Given the description of an element on the screen output the (x, y) to click on. 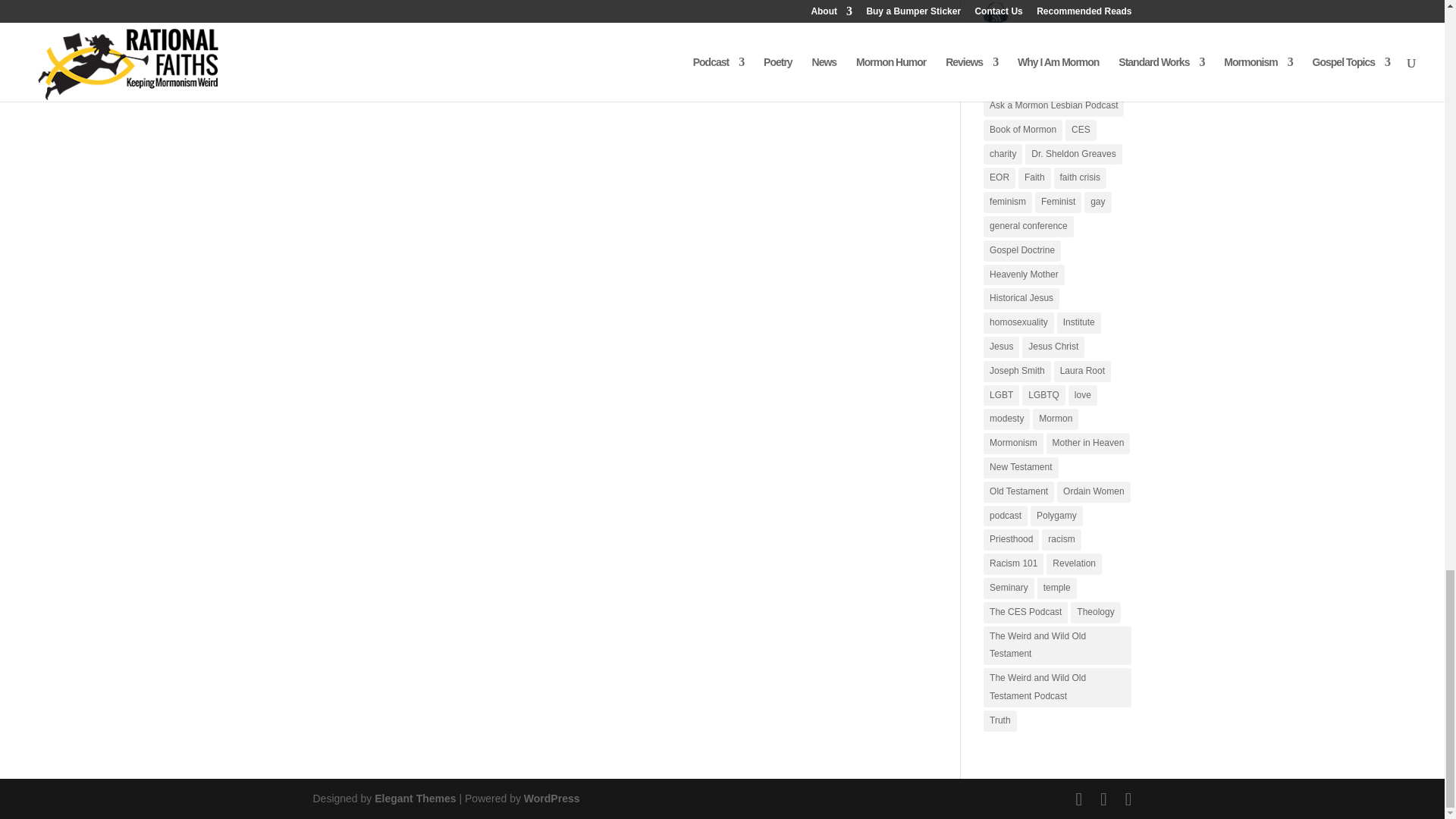
Premium WordPress Themes (414, 798)
Follow Us on iTunes Podcast (995, 13)
